Given the description of an element on the screen output the (x, y) to click on. 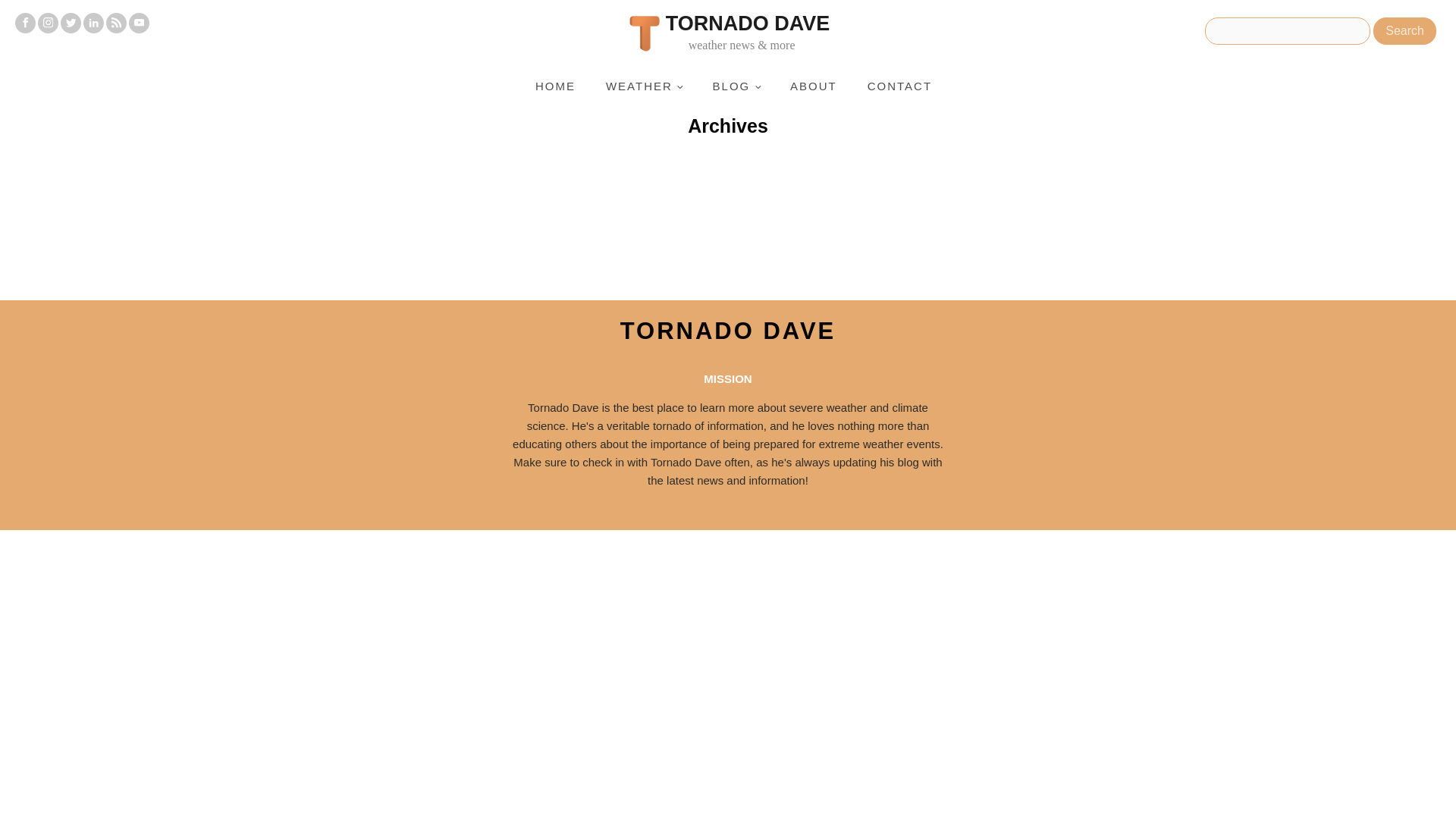
Search (1404, 31)
Search (1404, 31)
ABOUT (812, 86)
HOME (555, 86)
BLOG (735, 86)
TORNADO DAVE (727, 330)
CONTACT (899, 86)
WEATHER (644, 86)
